Given the description of an element on the screen output the (x, y) to click on. 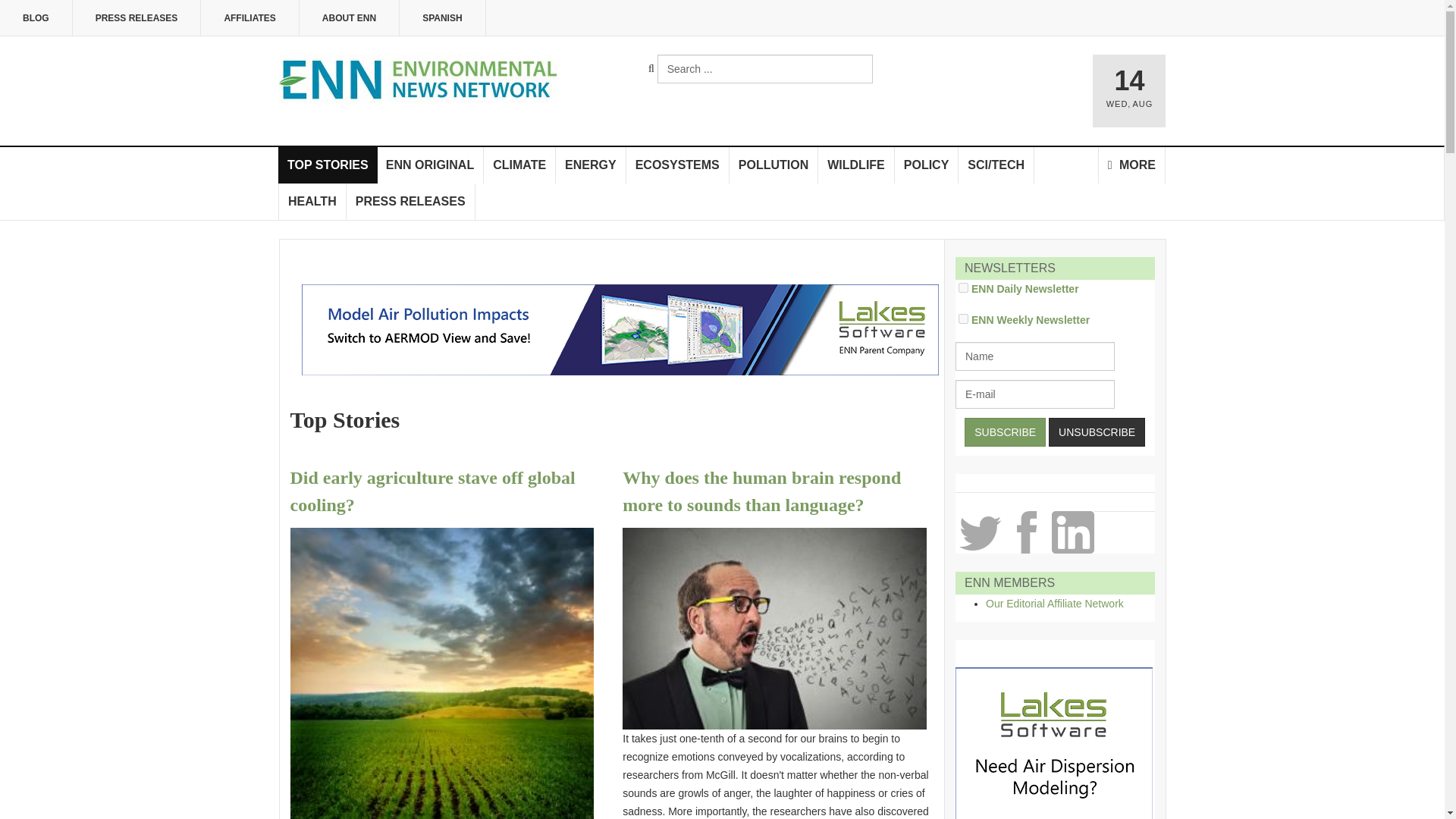
2 (963, 287)
Search ... (765, 68)
AFFILIATES (249, 18)
E-mail (1035, 394)
ENN (421, 79)
POLLUTION (773, 165)
3 (963, 318)
CLIMATE (519, 165)
WILDLIFE (856, 165)
Name (1035, 356)
